Given the description of an element on the screen output the (x, y) to click on. 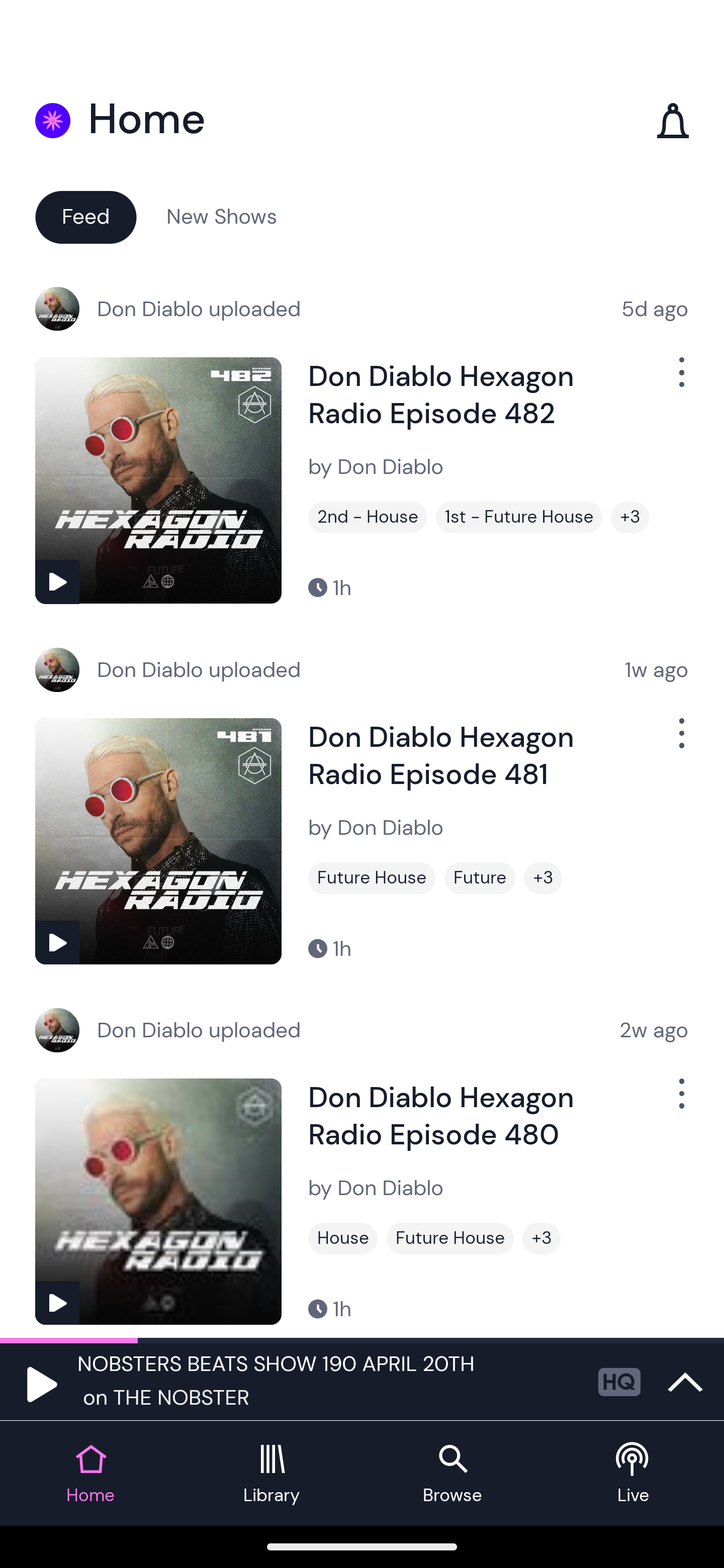
Feed (85, 216)
New Shows (221, 216)
Show Options Menu Button (679, 379)
2nd - House (367, 517)
1st - Future House (518, 517)
Show Options Menu Button (679, 740)
Future House (371, 877)
Future (479, 877)
Show Options Menu Button (679, 1101)
House (342, 1238)
Future House (450, 1238)
Home tab Home (90, 1473)
Library tab Library (271, 1473)
Browse tab Browse (452, 1473)
Live tab Live (633, 1473)
